Given the description of an element on the screen output the (x, y) to click on. 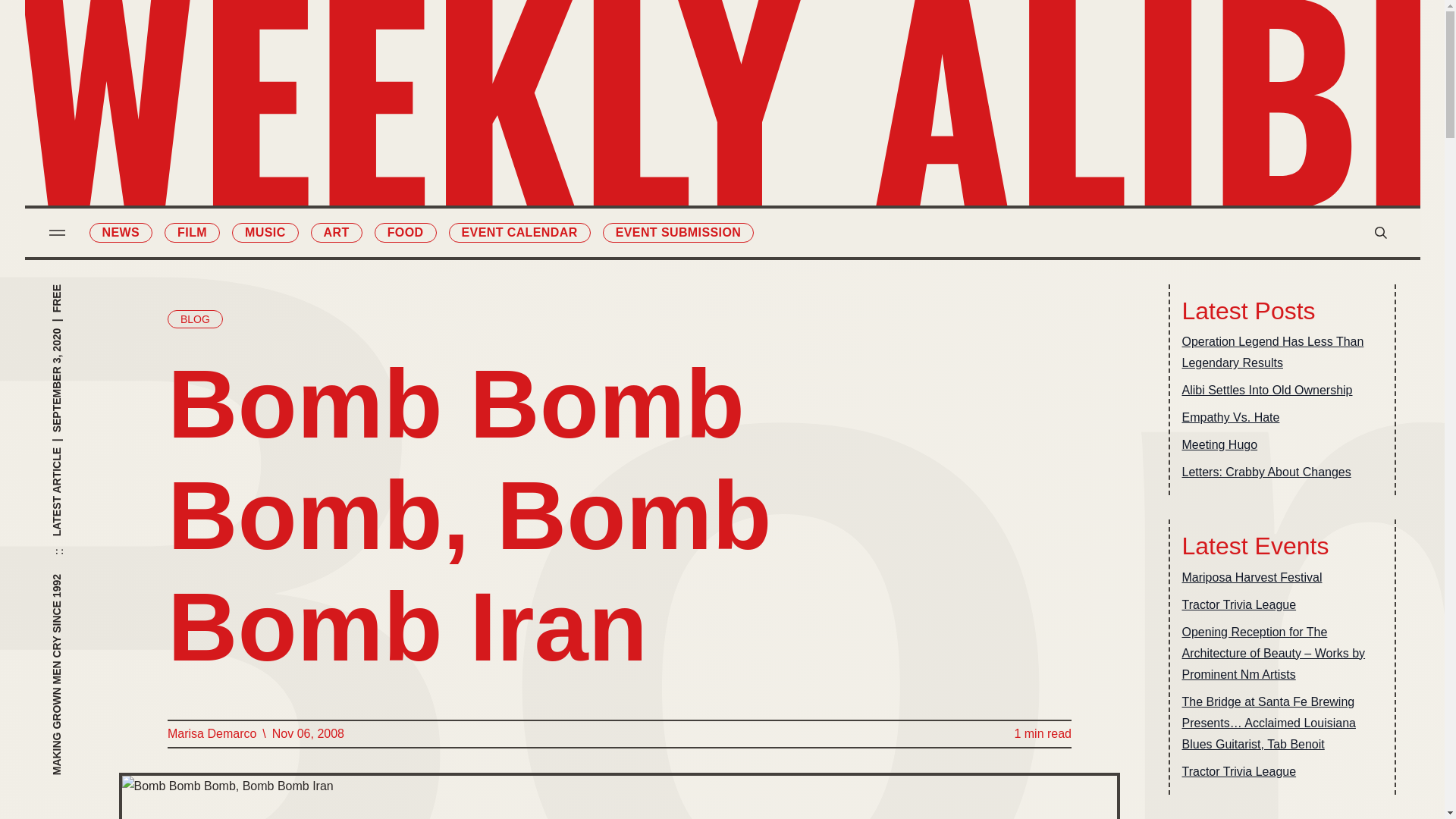
NEWS (120, 232)
ART (336, 232)
EVENT CALENDAR (519, 232)
EVENT SUBMISSION (678, 232)
BLOG (194, 319)
Marisa Demarco (211, 733)
MUSIC (264, 232)
FOOD (405, 232)
FILM (191, 232)
